Given the description of an element on the screen output the (x, y) to click on. 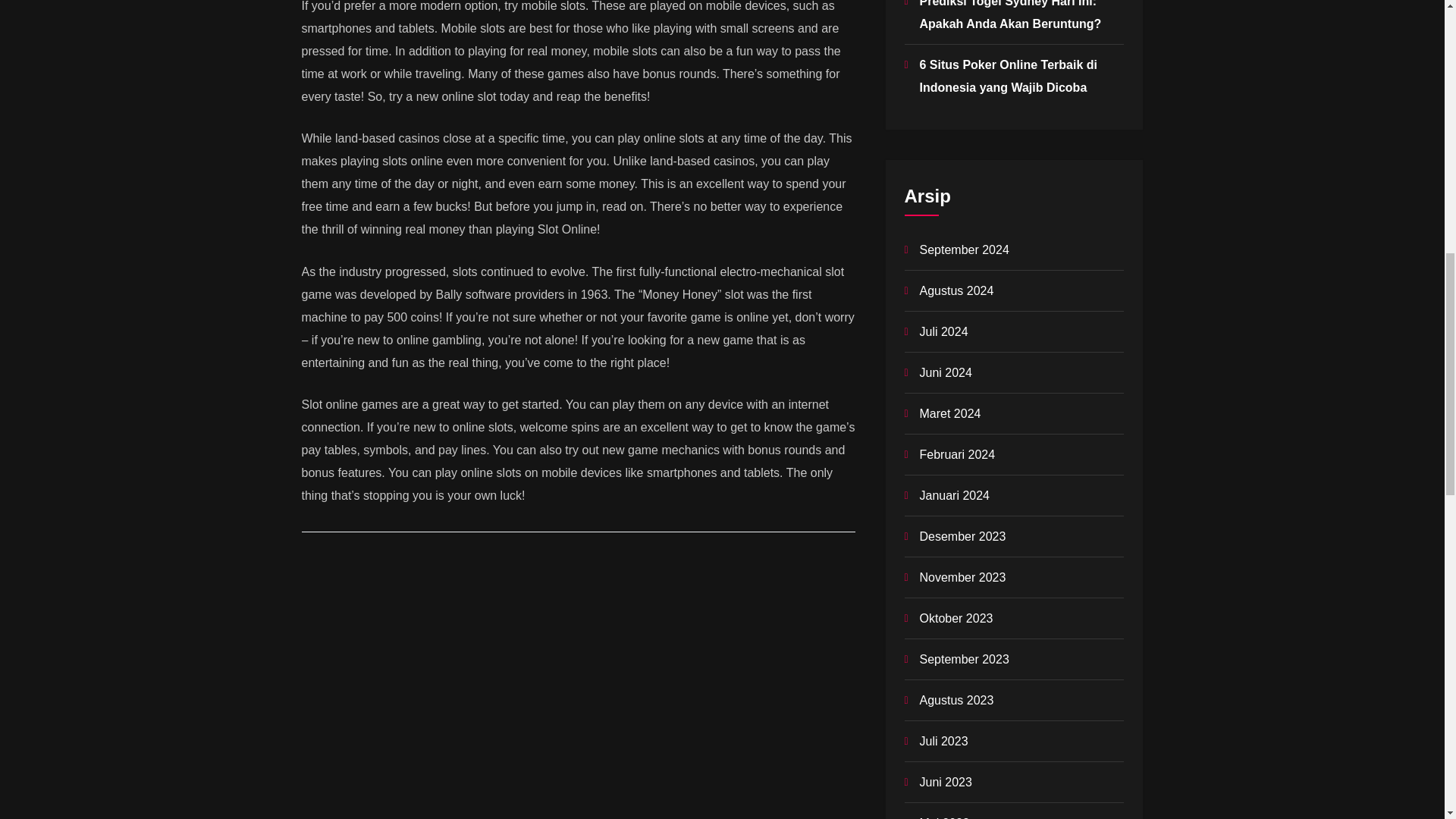
Oktober 2023 (955, 617)
Agustus 2024 (955, 290)
6 Situs Poker Online Terbaik di Indonesia yang Wajib Dicoba (1007, 76)
Desember 2023 (962, 535)
Agustus 2023 (955, 699)
Juni 2024 (944, 372)
Mei 2023 (943, 817)
Maret 2024 (948, 413)
September 2023 (963, 658)
Juli 2023 (943, 740)
